Given the description of an element on the screen output the (x, y) to click on. 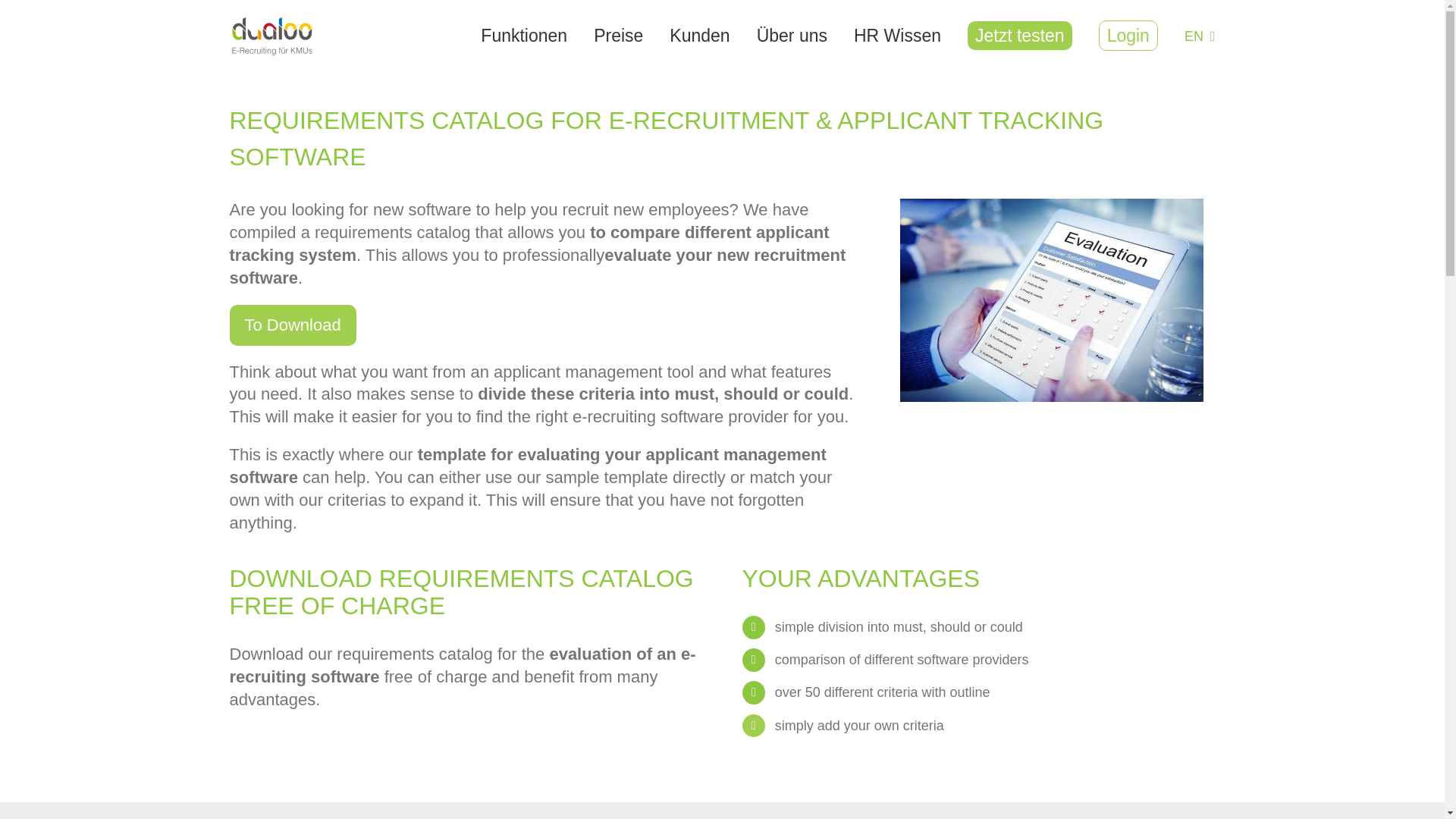
Jetzt testen (1018, 36)
Preise (618, 36)
To Download (291, 324)
Funktionen (523, 36)
Login (1127, 36)
HR Wissen (896, 36)
Kunden (699, 36)
